Given the description of an element on the screen output the (x, y) to click on. 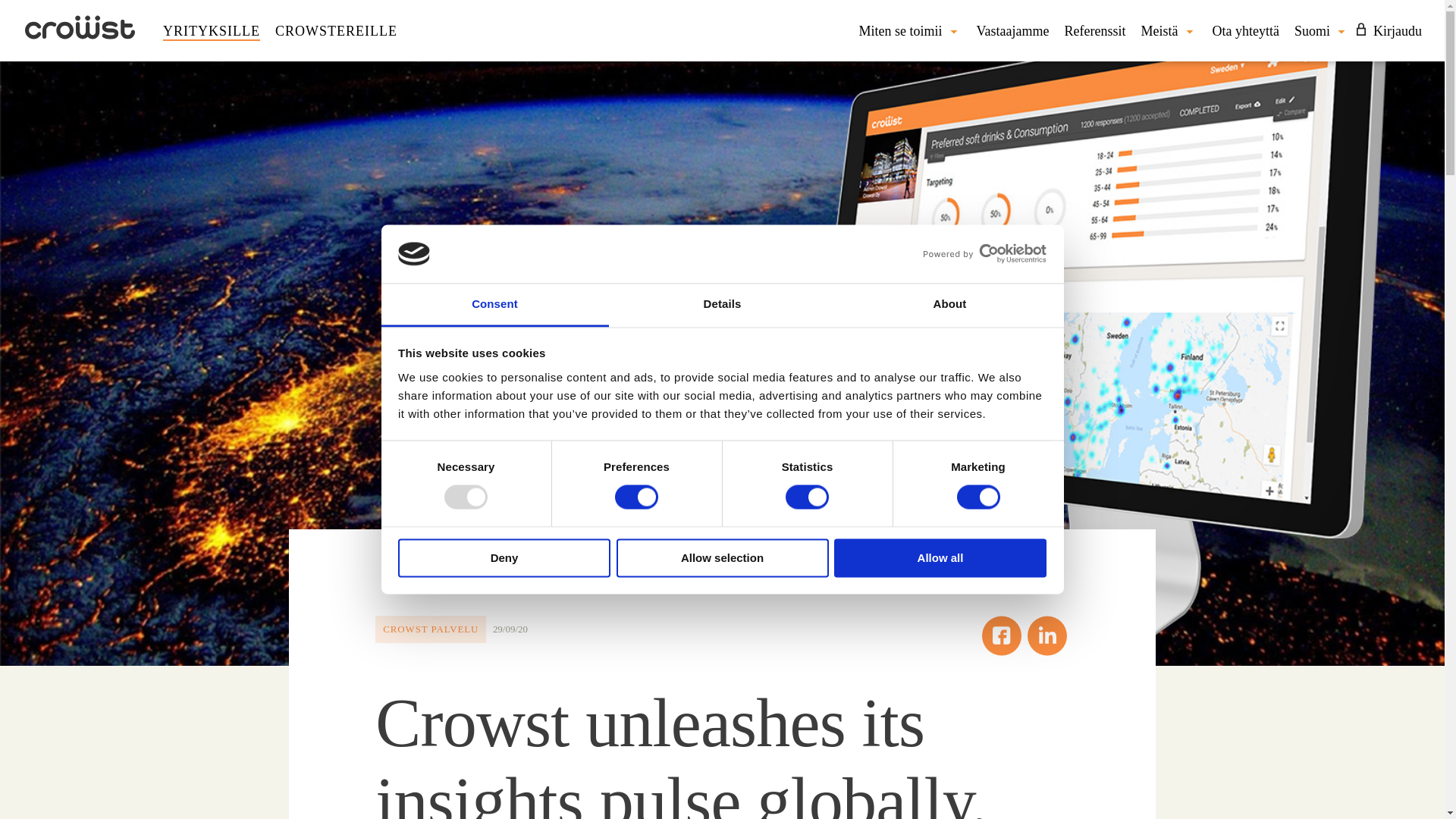
Allow all (940, 557)
Allow selection (721, 557)
Details (721, 304)
Deny (503, 557)
Consent (494, 304)
About (948, 304)
